Given the description of an element on the screen output the (x, y) to click on. 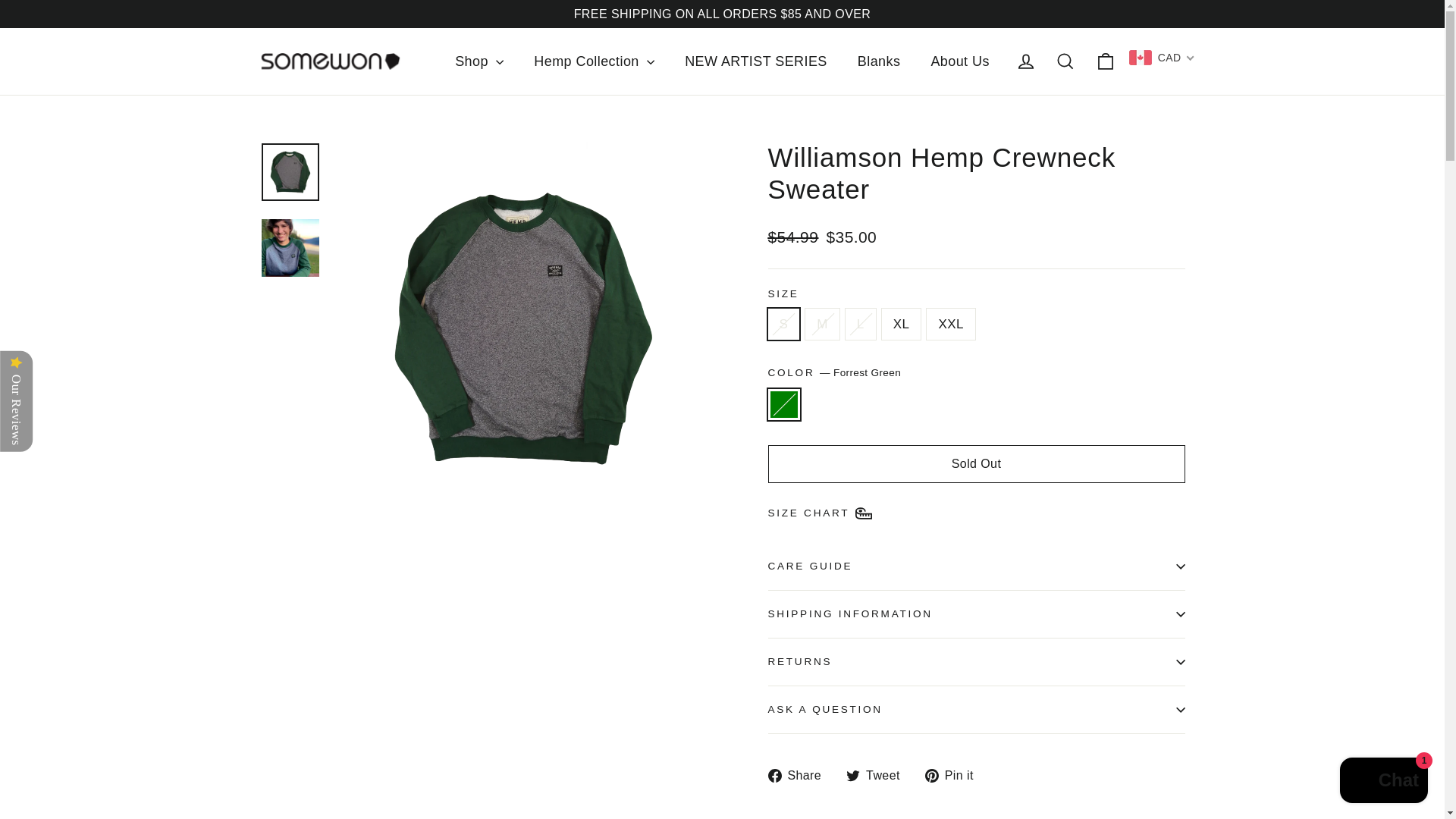
twitter (852, 775)
Share on Facebook (799, 774)
Blanks (879, 61)
Tweet on Twitter (878, 774)
Pin on Pinterest (954, 774)
account (1025, 61)
icon-search (1064, 61)
NEW ARTIST SERIES (756, 61)
icon-bag-minimal (1105, 61)
